Given the description of an element on the screen output the (x, y) to click on. 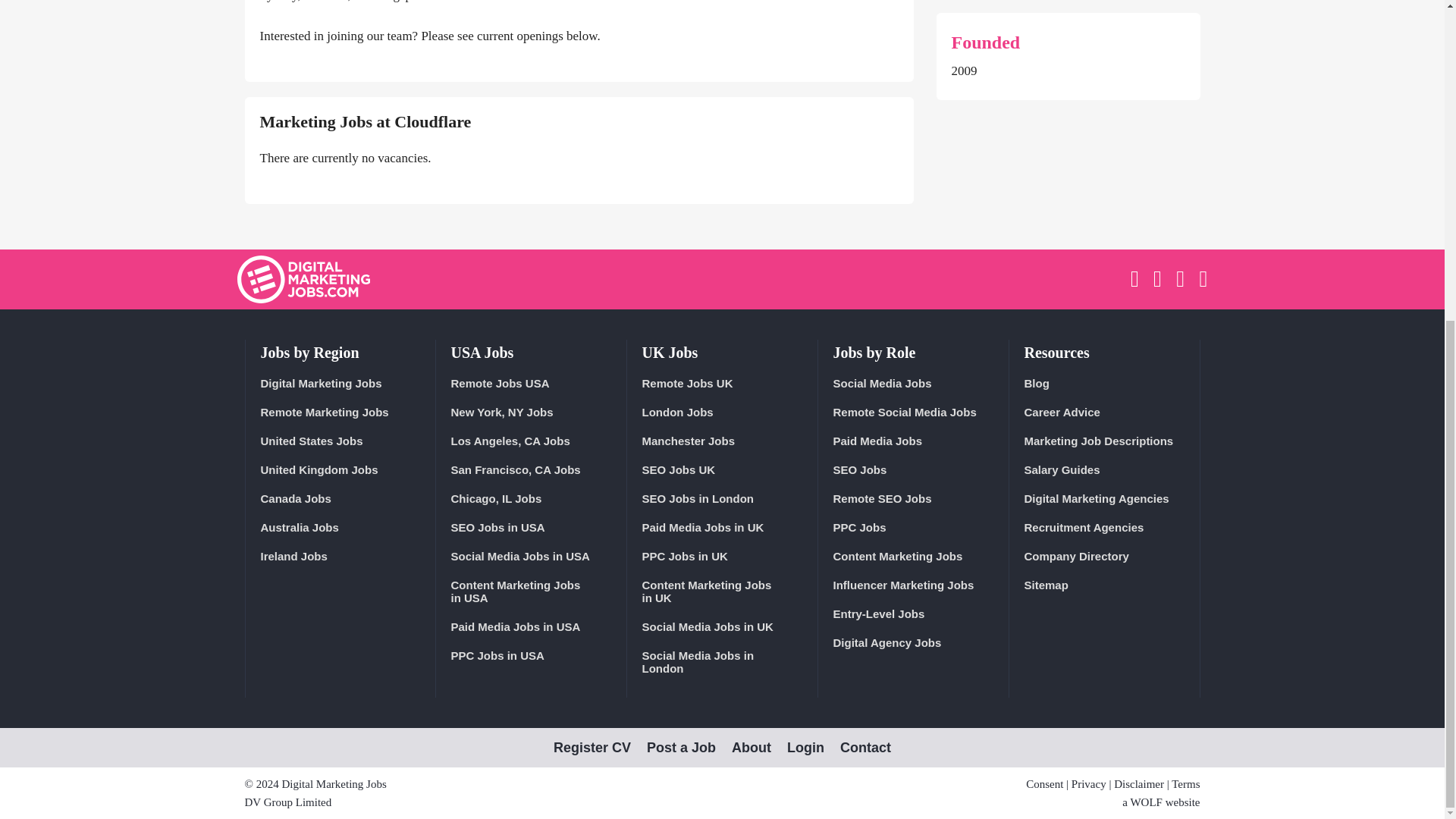
Digital Marketing Jobs (338, 383)
Digital Marketing Jobs logo (302, 279)
UK Jobs (669, 352)
USA Jobs (481, 352)
